Given the description of an element on the screen output the (x, y) to click on. 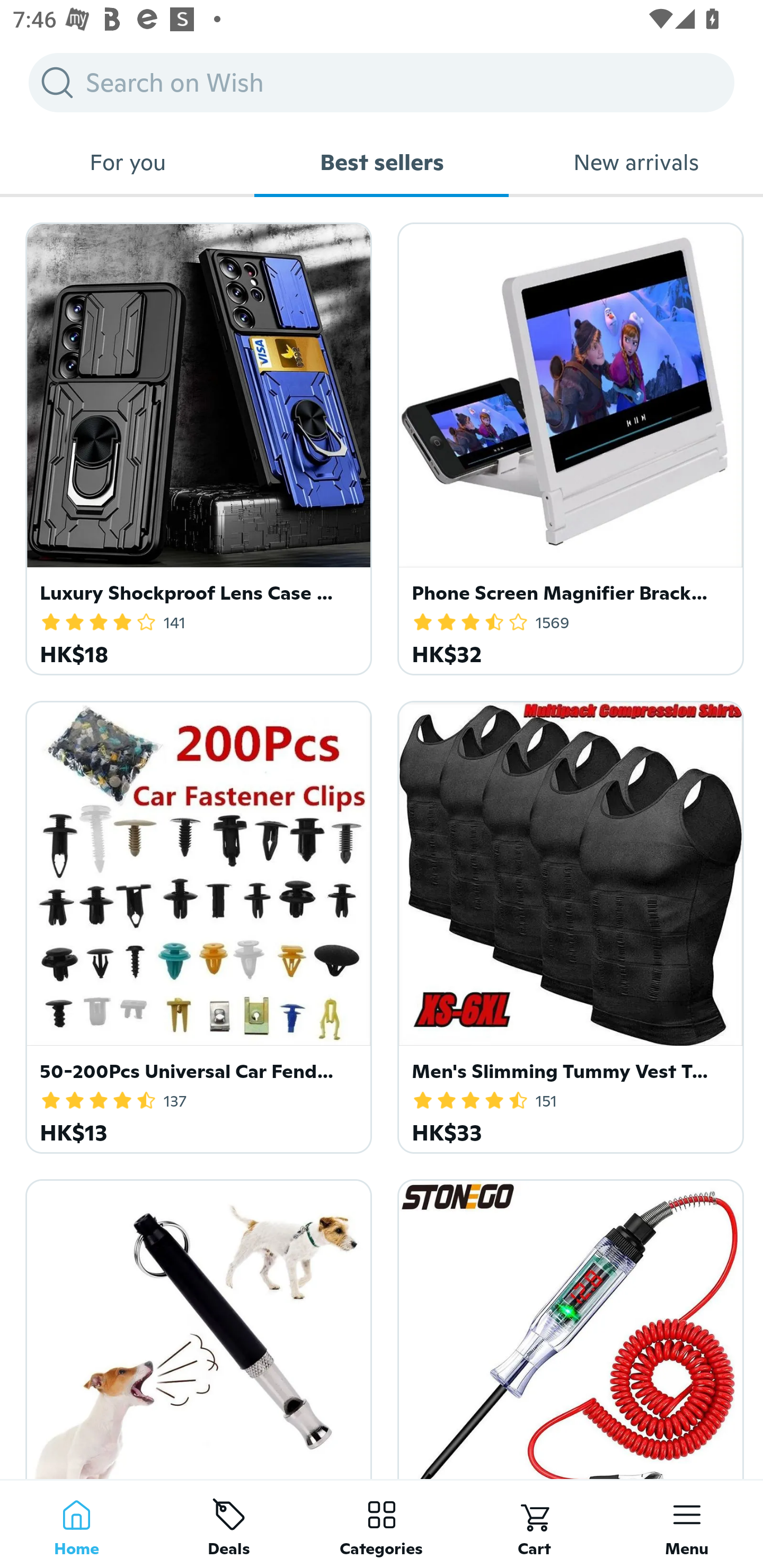
Search on Wish (381, 82)
For you (127, 161)
Best sellers (381, 161)
New arrivals (635, 161)
Home (76, 1523)
Deals (228, 1523)
Categories (381, 1523)
Cart (533, 1523)
Menu (686, 1523)
